Given the description of an element on the screen output the (x, y) to click on. 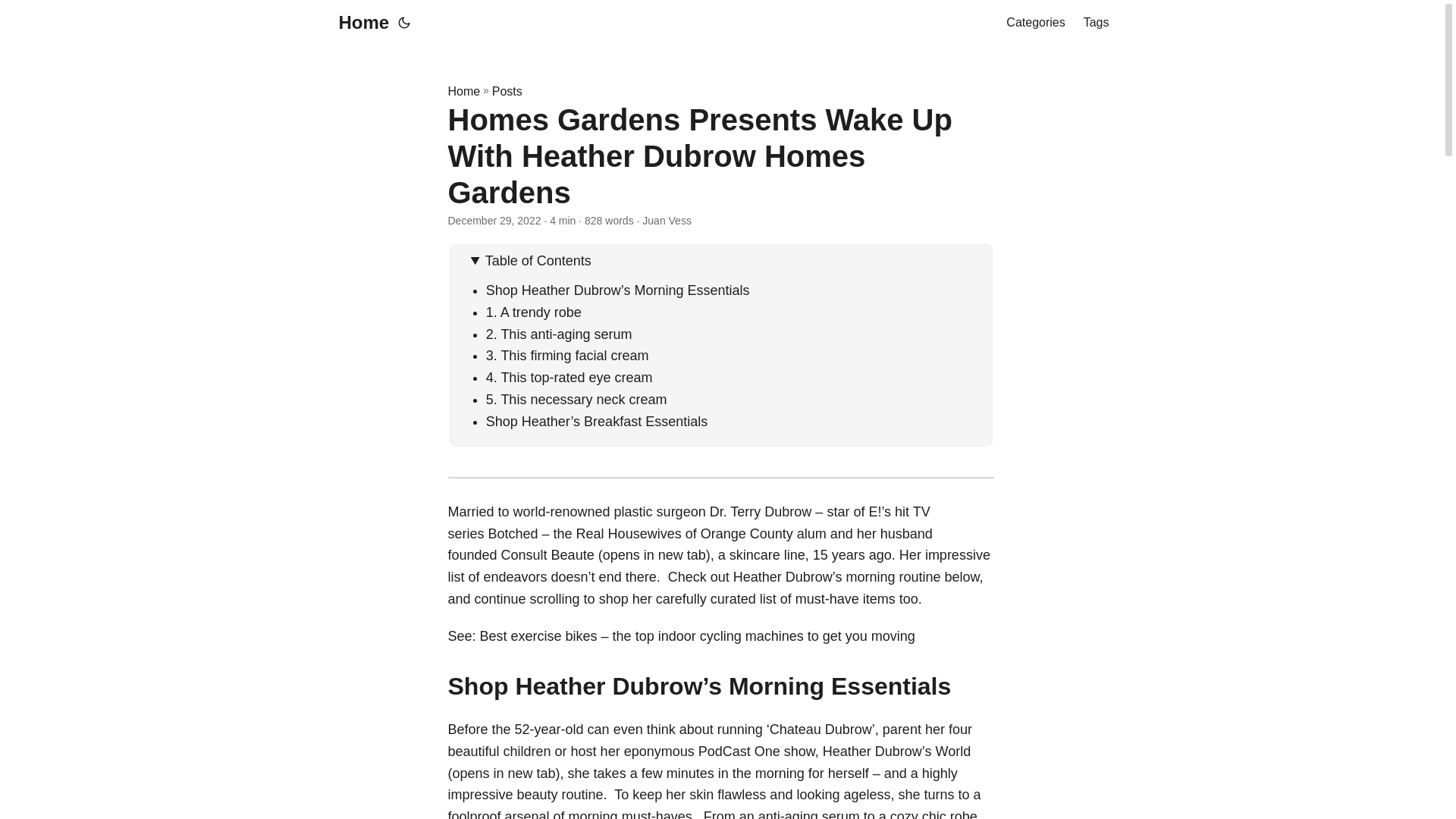
Posts (507, 91)
Categories (1035, 22)
5. This necessary neck cream (576, 399)
Home (463, 91)
Home (359, 22)
Categories (1035, 22)
1. A trendy robe (533, 312)
2. This anti-aging serum (558, 334)
4. This top-rated eye cream  (571, 377)
3. This firming facial cream (567, 355)
